Given the description of an element on the screen output the (x, y) to click on. 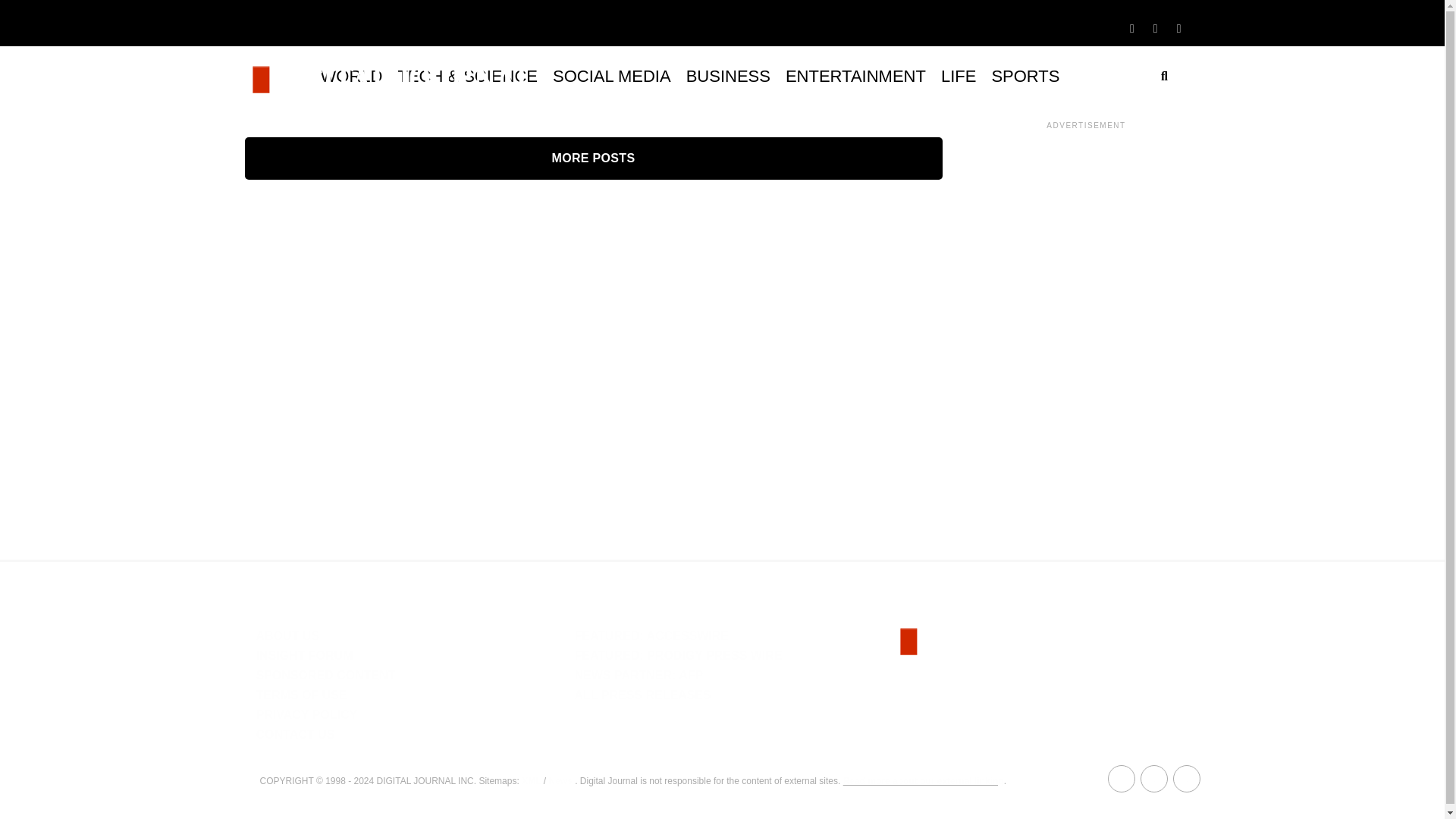
CONTACT US (295, 734)
XML (530, 779)
MORE POSTS (593, 158)
NEWS PARTNER: AFP (638, 675)
News (560, 779)
SPONSORED CONTENT (326, 675)
BUSINESS (727, 76)
ENTERTAINMENT (855, 76)
TERMS OF USE (301, 694)
Read more about our external linking (923, 779)
